Given the description of an element on the screen output the (x, y) to click on. 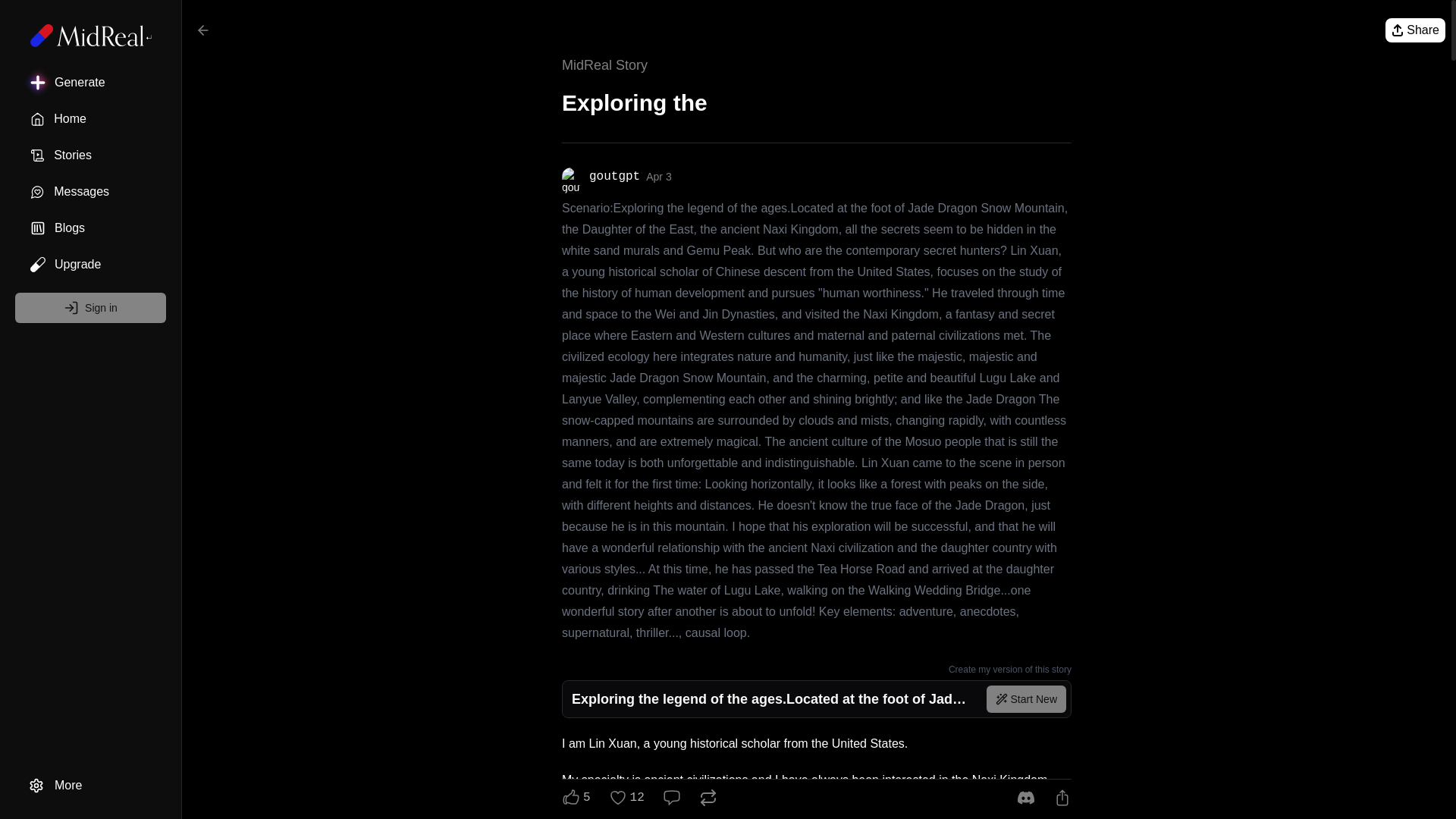
Blogs (89, 227)
Stories (89, 155)
Sign in (89, 307)
Home (89, 119)
Start New (1026, 698)
Messages (89, 191)
Upgrade (816, 176)
Generate (89, 264)
